Given the description of an element on the screen output the (x, y) to click on. 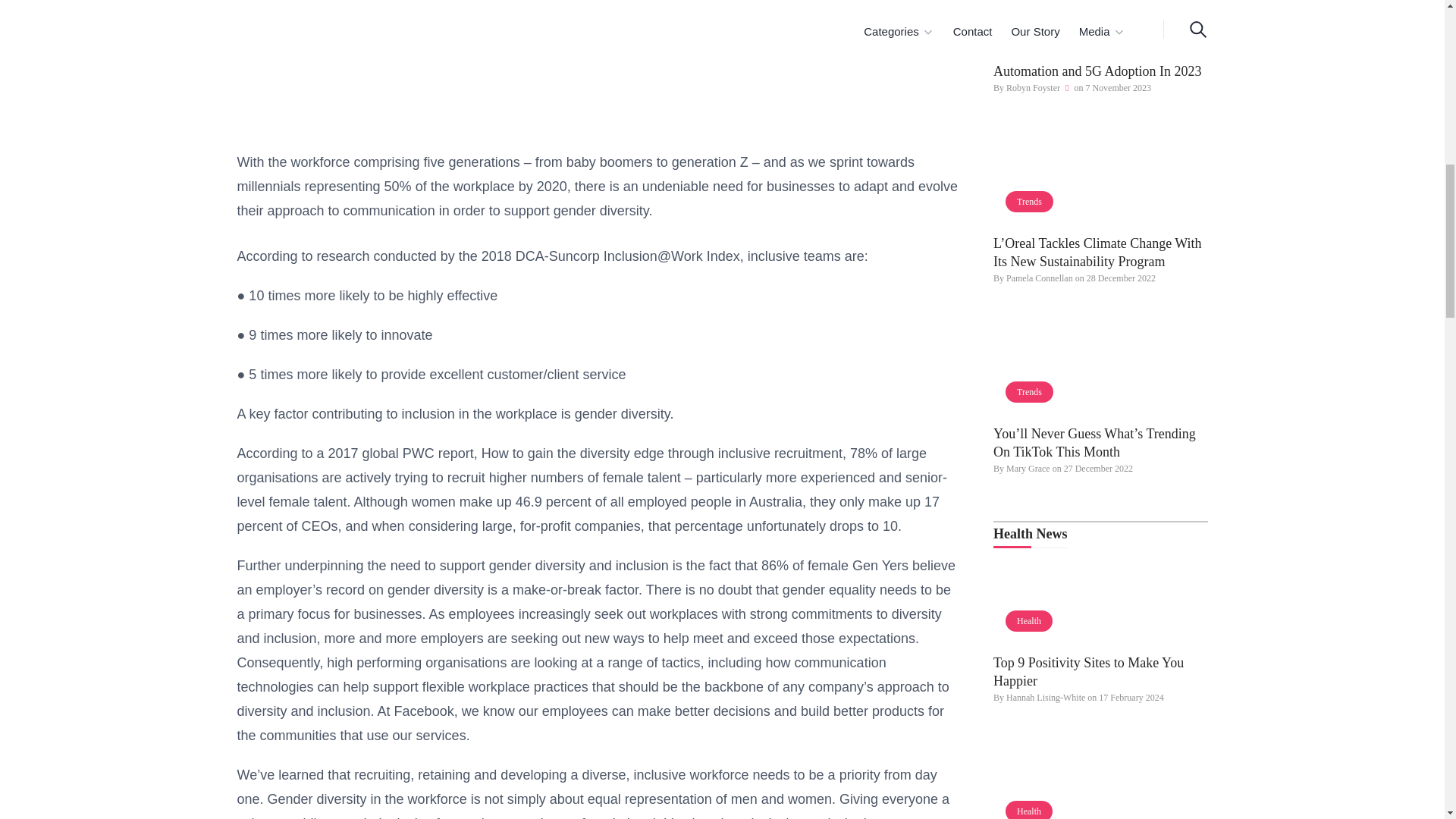
Advertisement (597, 64)
woman in field (1100, 177)
gluten free FoodSwitch (1100, 778)
TikTok (1100, 368)
